Given the description of an element on the screen output the (x, y) to click on. 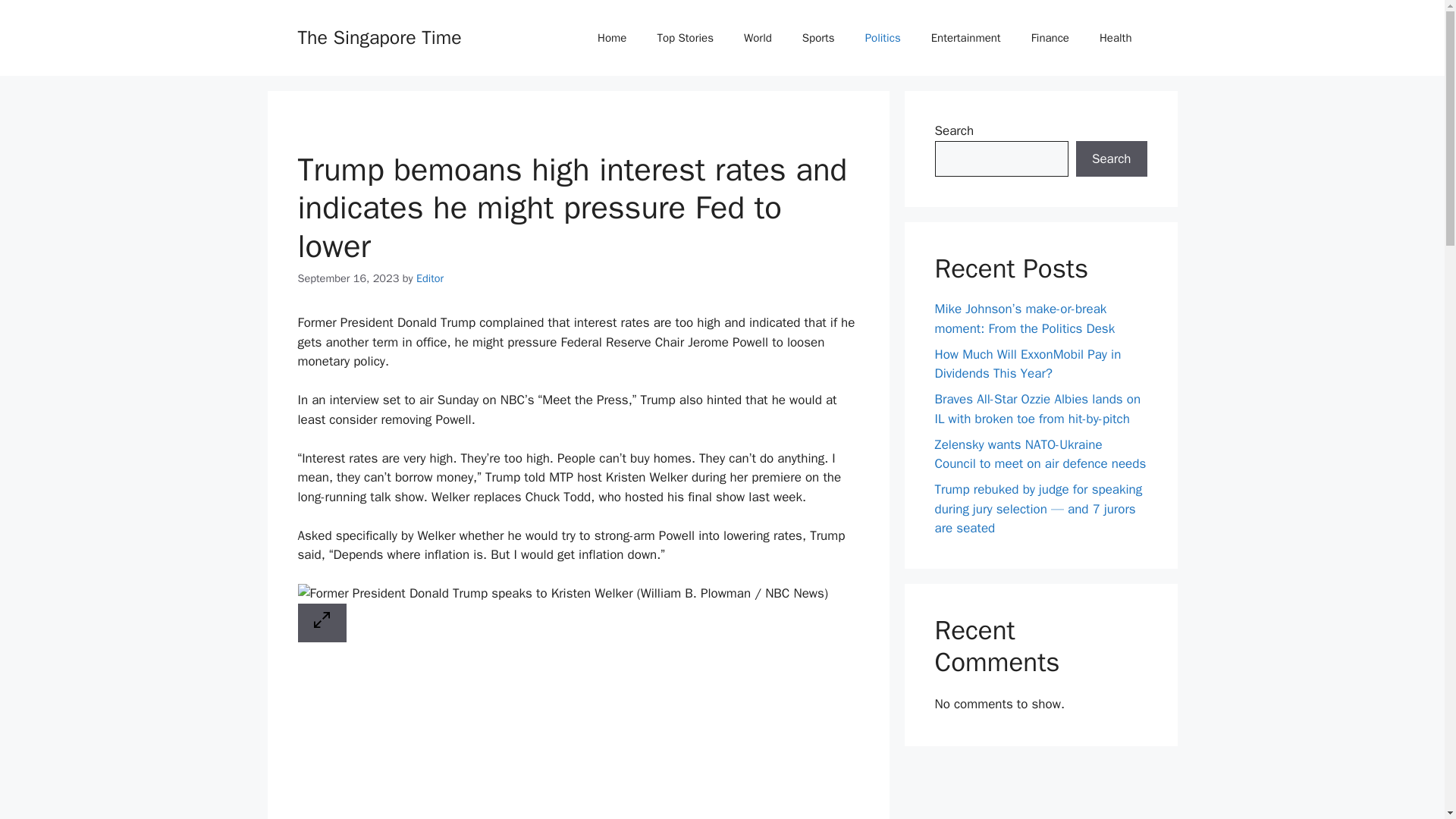
The Singapore Time (379, 37)
Politics (882, 37)
Top Stories (685, 37)
Editor (430, 278)
World (758, 37)
Sports (818, 37)
How Much Will ExxonMobil Pay in Dividends This Year? (1027, 363)
Search (1111, 158)
Finance (1050, 37)
Home (612, 37)
Entertainment (965, 37)
Health (1115, 37)
View all posts by Editor (430, 278)
